Given the description of an element on the screen output the (x, y) to click on. 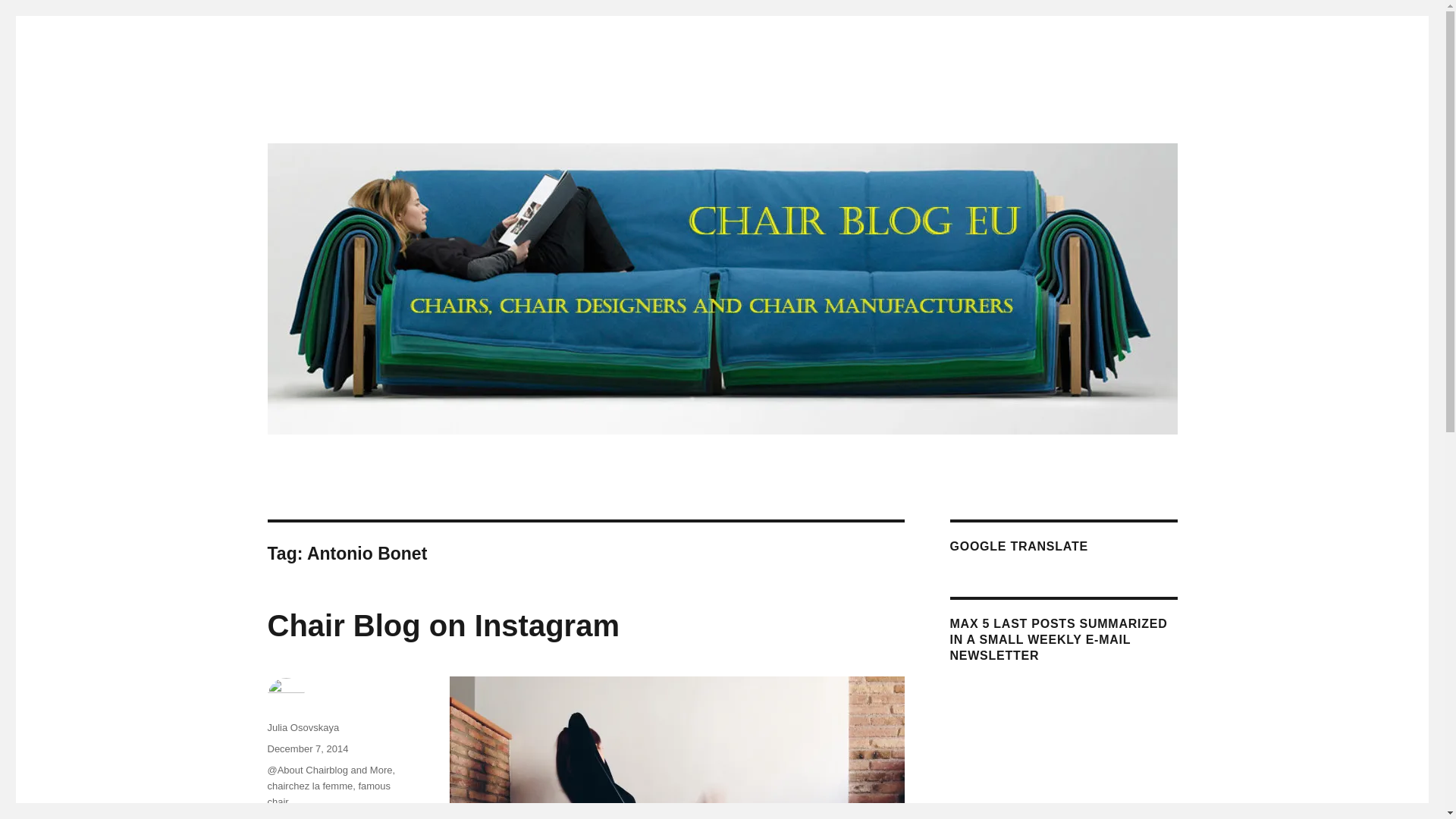
famous chair (328, 793)
chairchez la femme (309, 785)
Julia Osovskaya (302, 727)
Chair Blog on Instagram (443, 625)
Antonio Bonet (297, 818)
Knoll (345, 818)
Chairblog.eu (331, 114)
December 7, 2014 (306, 748)
